Given the description of an element on the screen output the (x, y) to click on. 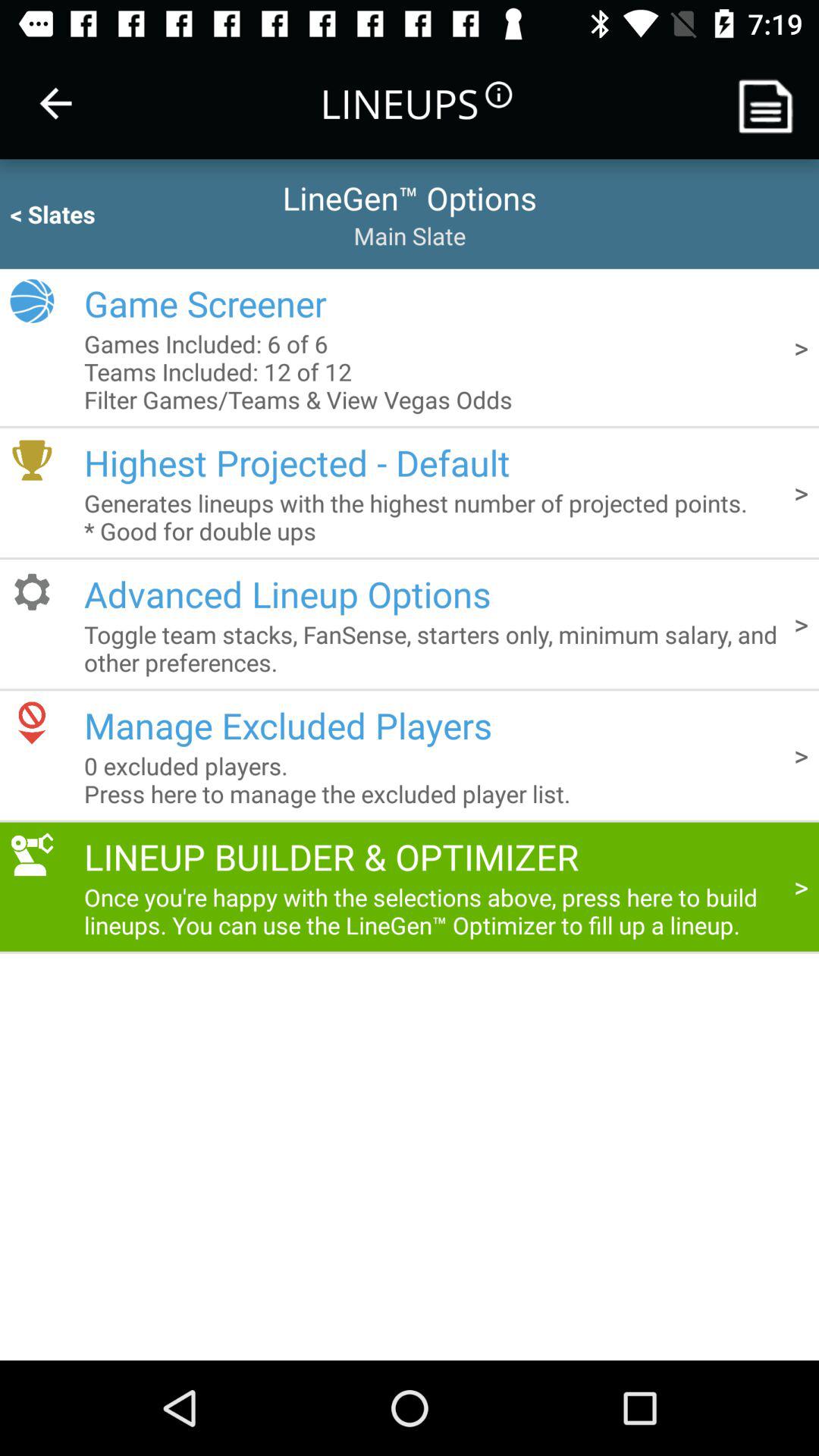
scroll to the < slates item (81, 214)
